Given the description of an element on the screen output the (x, y) to click on. 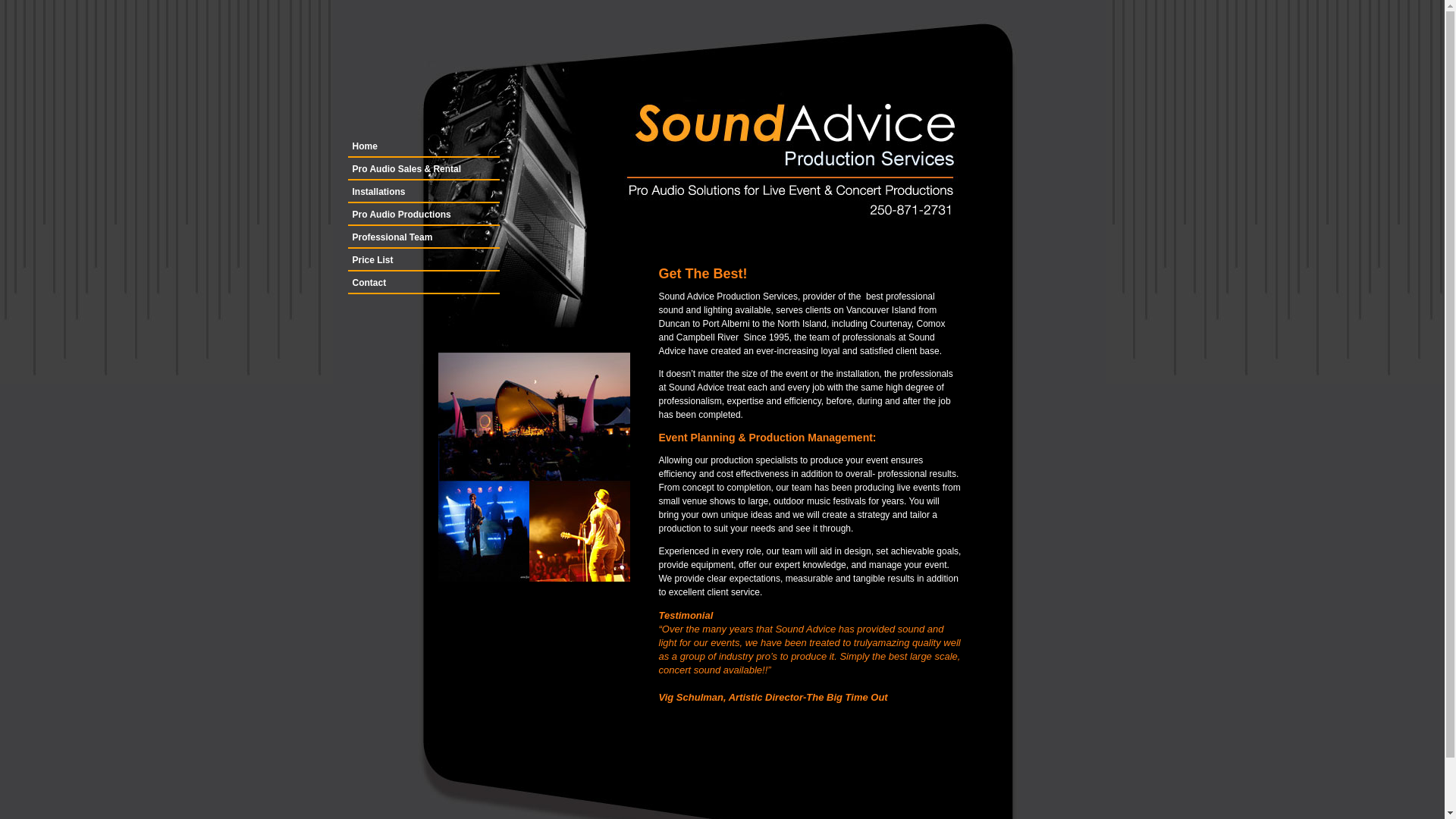
Price List Element type: text (422, 259)
Pro Audio Sales & Rental Element type: text (422, 168)
Home Element type: text (422, 145)
Professional Team Element type: text (422, 236)
Installations Element type: text (422, 191)
Contact Element type: text (422, 282)
Pro Audio Productions Element type: text (422, 214)
